Given the description of an element on the screen output the (x, y) to click on. 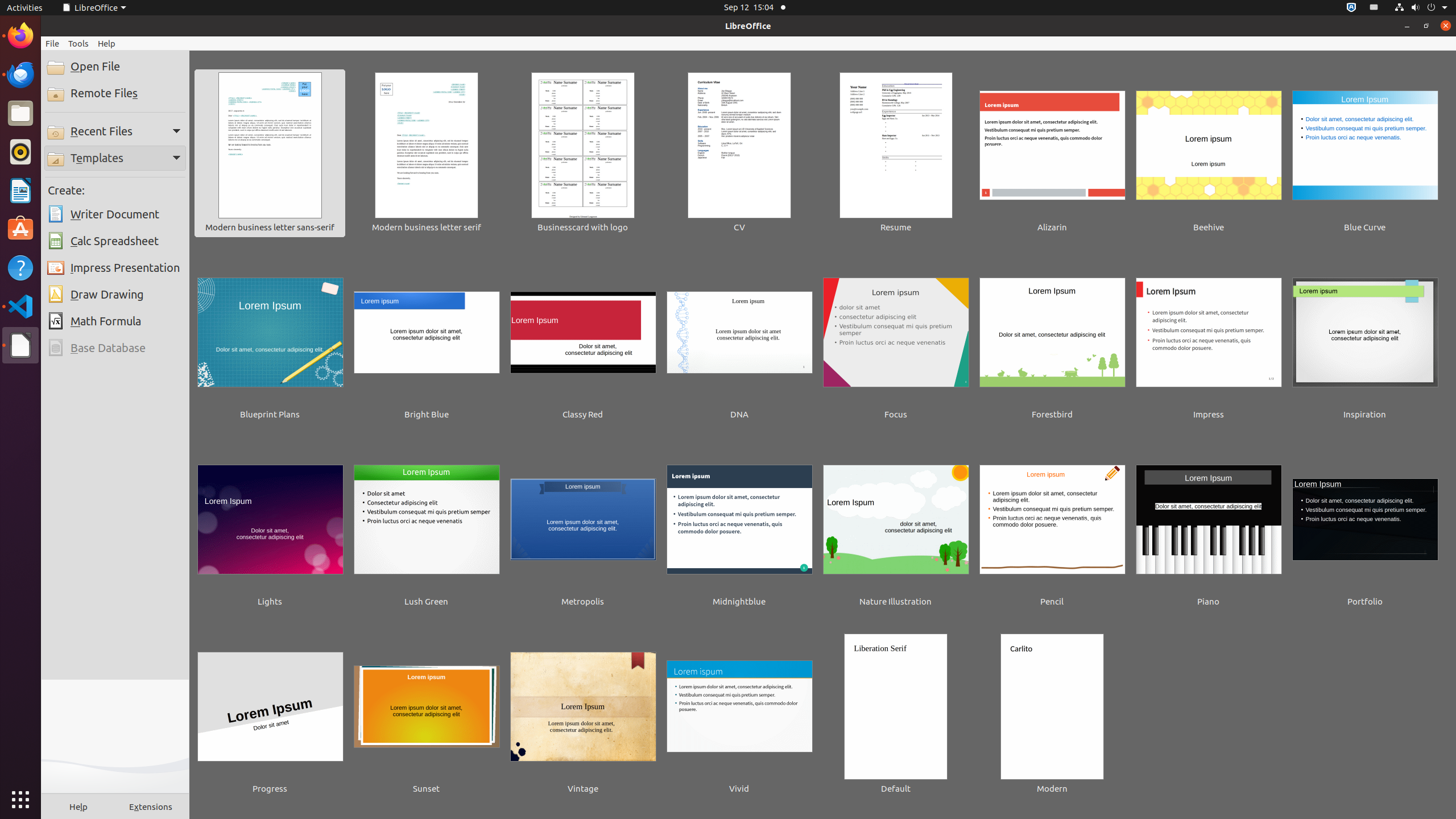
Focus Element type: list-item (895, 340)
Impress Presentation Element type: push-button (114, 267)
Remote Files Element type: push-button (114, 92)
Portfolio Element type: list-item (1364, 527)
